Given the description of an element on the screen output the (x, y) to click on. 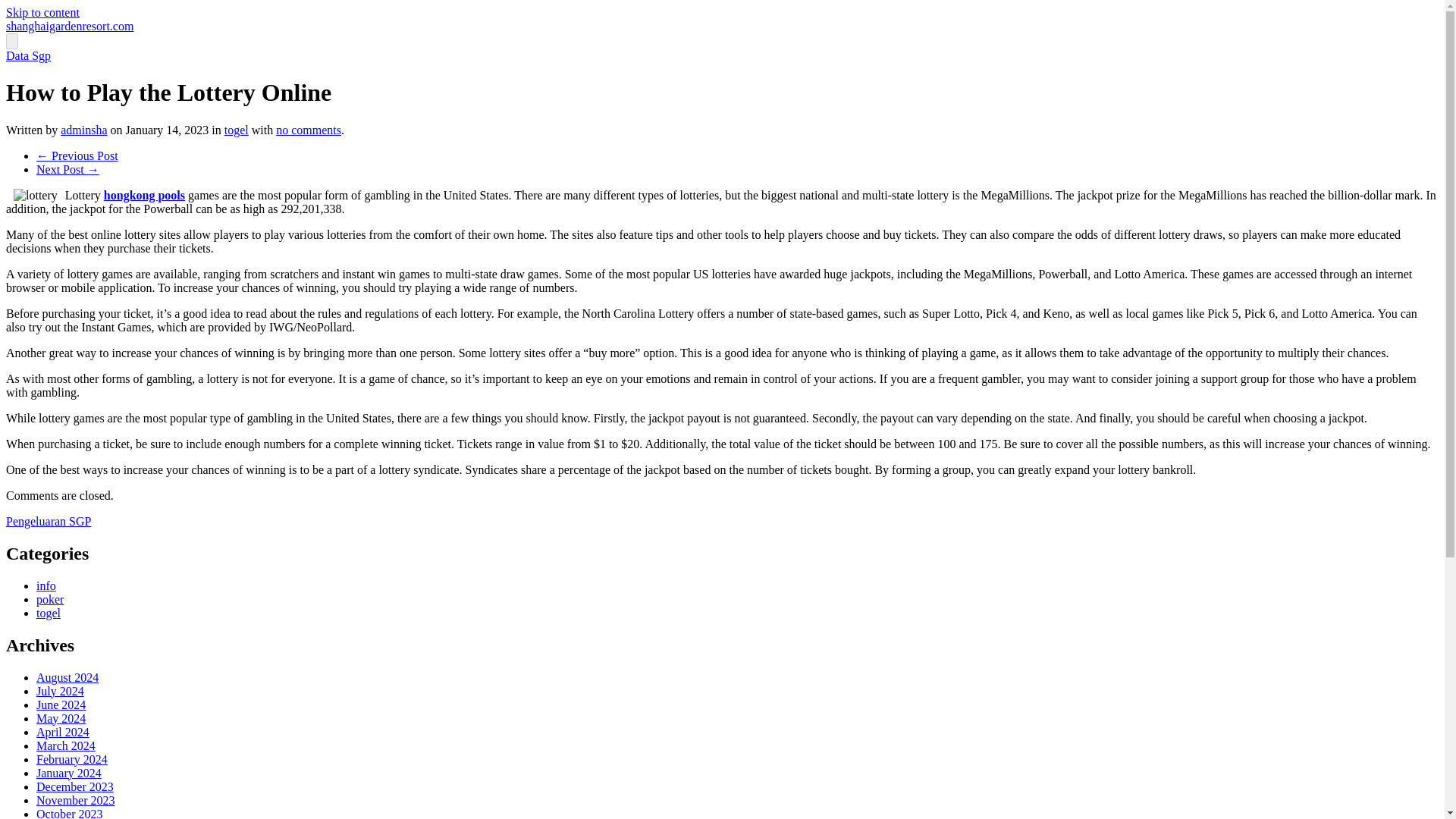
Data Sgp (27, 55)
Pengeluaran SGP (47, 521)
poker (50, 599)
October 2023 (69, 812)
hongkong pools (143, 195)
February 2024 (71, 758)
May 2024 (60, 717)
March 2024 (66, 744)
July 2024 (60, 689)
April 2024 (62, 730)
info (46, 585)
November 2023 (75, 799)
adminsha (83, 129)
August 2024 (67, 676)
Skip to content (42, 11)
